Given the description of an element on the screen output the (x, y) to click on. 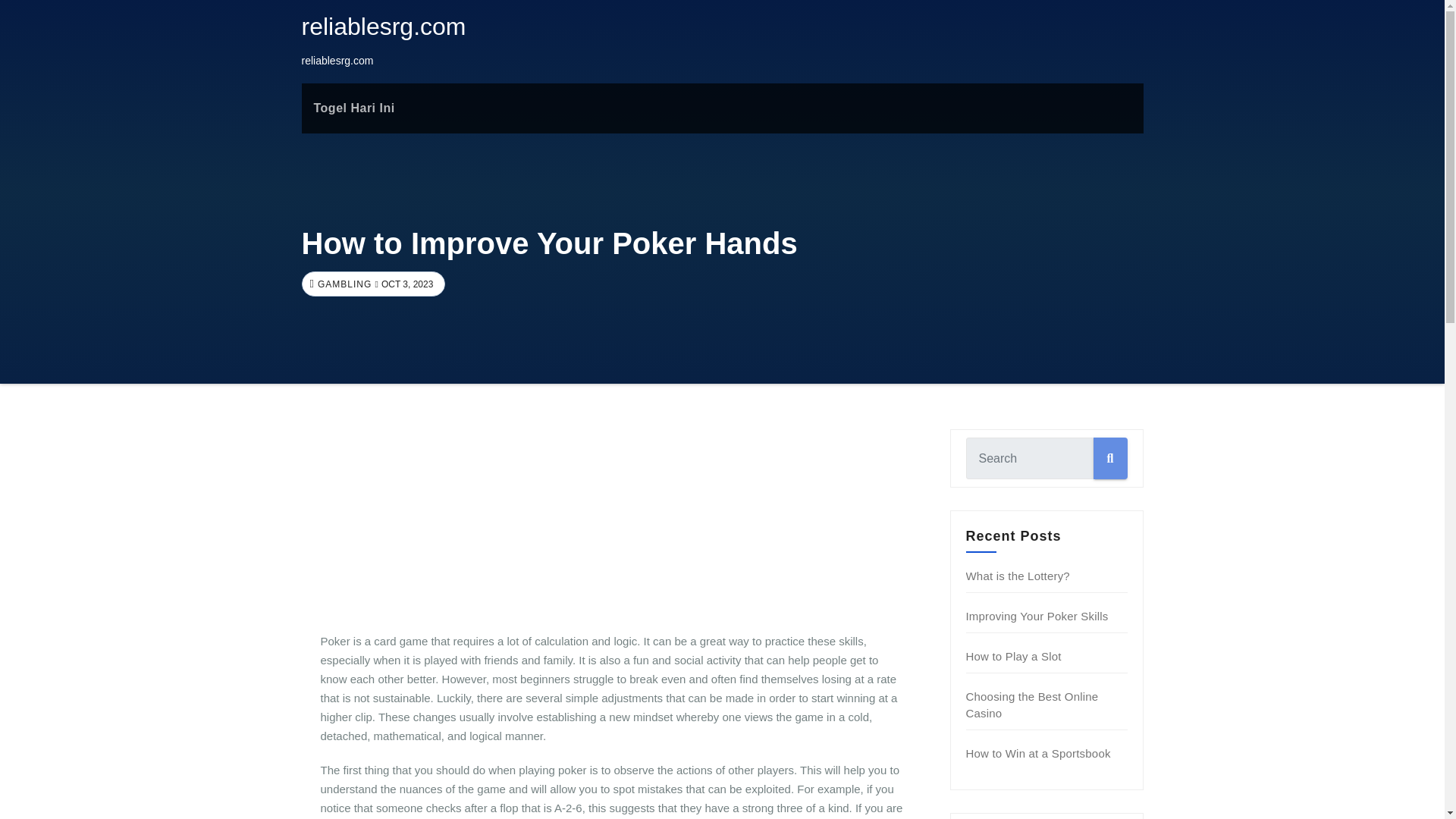
Togel Hari Ini (354, 108)
What is the Lottery? (1018, 575)
How to Win at a Sportsbook (1038, 753)
Togel Hari Ini (354, 108)
GAMBLING (342, 284)
How to Play a Slot (1013, 656)
Choosing the Best Online Casino (1032, 704)
reliablesrg.com (383, 26)
Improving Your Poker Skills (1037, 615)
